Given the description of an element on the screen output the (x, y) to click on. 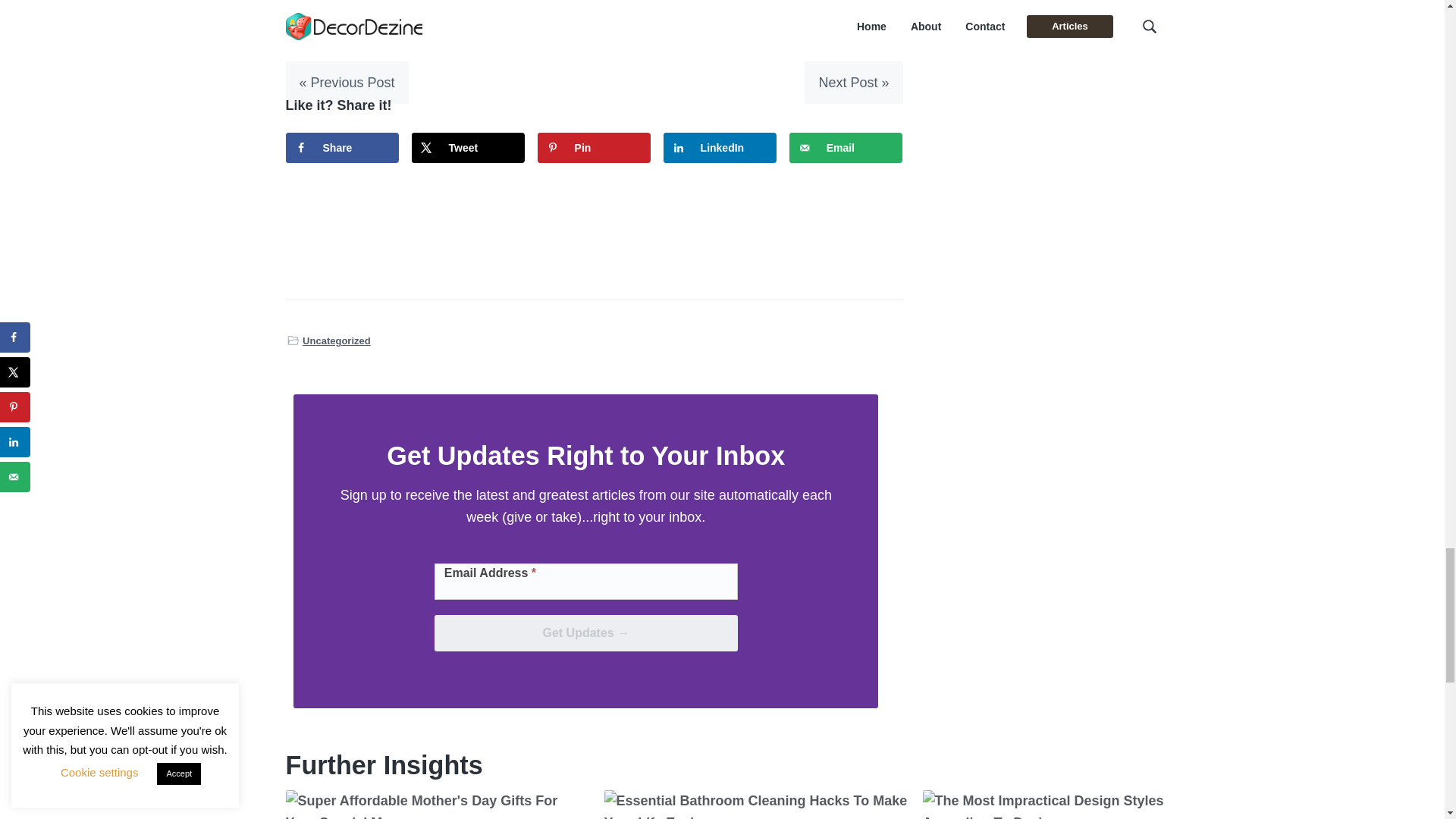
LinkedIn (720, 147)
Send over email (845, 147)
Share on X (468, 147)
Share (341, 147)
Share on LinkedIn (720, 147)
Pin (593, 147)
Share on Facebook (341, 147)
Email (845, 147)
Save to Pinterest (593, 147)
